Given the description of an element on the screen output the (x, y) to click on. 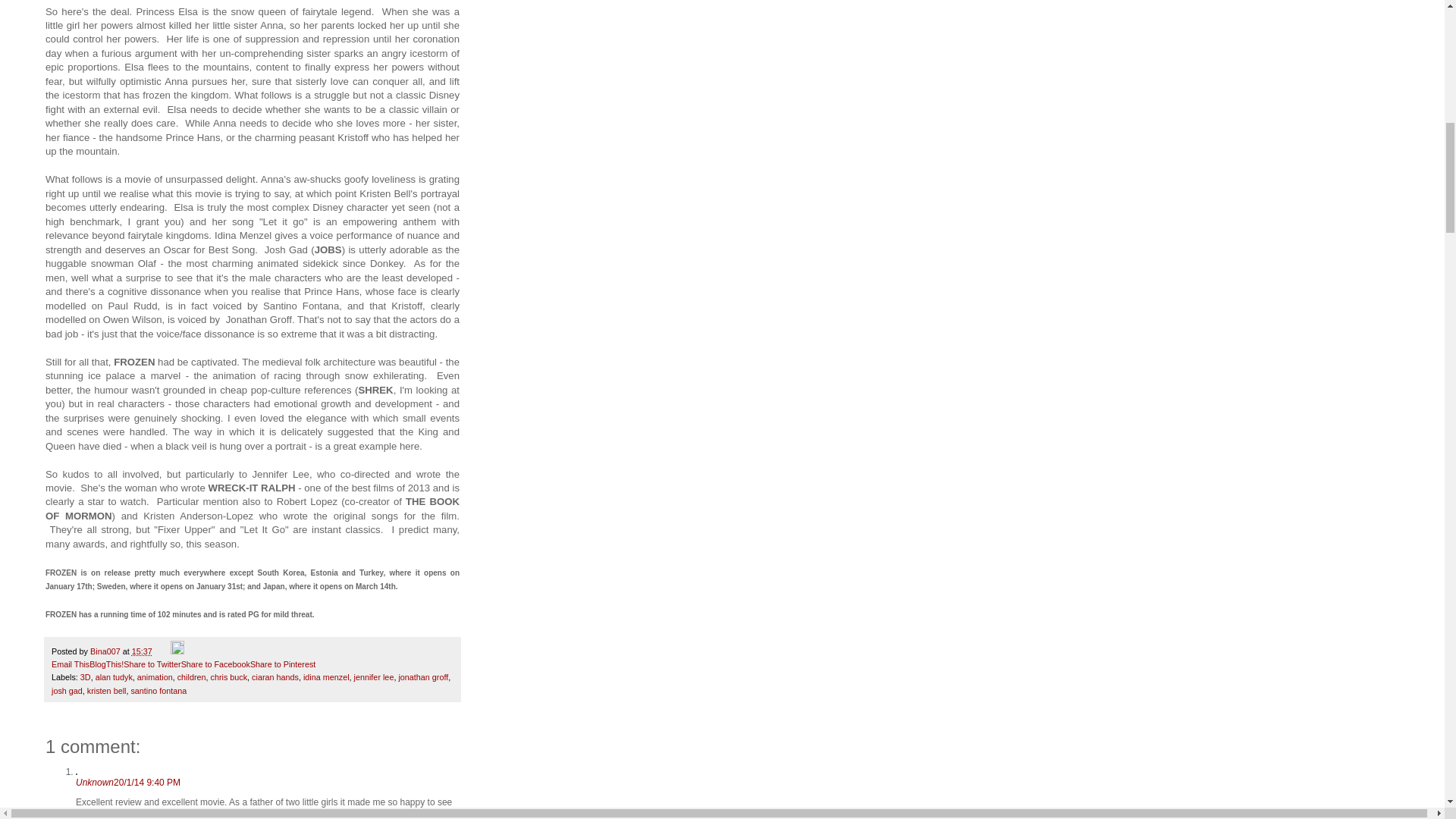
chris buck (229, 676)
Share to Facebook (215, 664)
Share to Twitter (151, 664)
jonathan groff (422, 676)
3D (85, 676)
Email Post (162, 651)
Email This (69, 664)
Email This (69, 664)
Share to Facebook (215, 664)
josh gad (66, 690)
permanent link (142, 651)
Share to Pinterest (282, 664)
animation (154, 676)
Share to Pinterest (282, 664)
15:37 (142, 651)
